Given the description of an element on the screen output the (x, y) to click on. 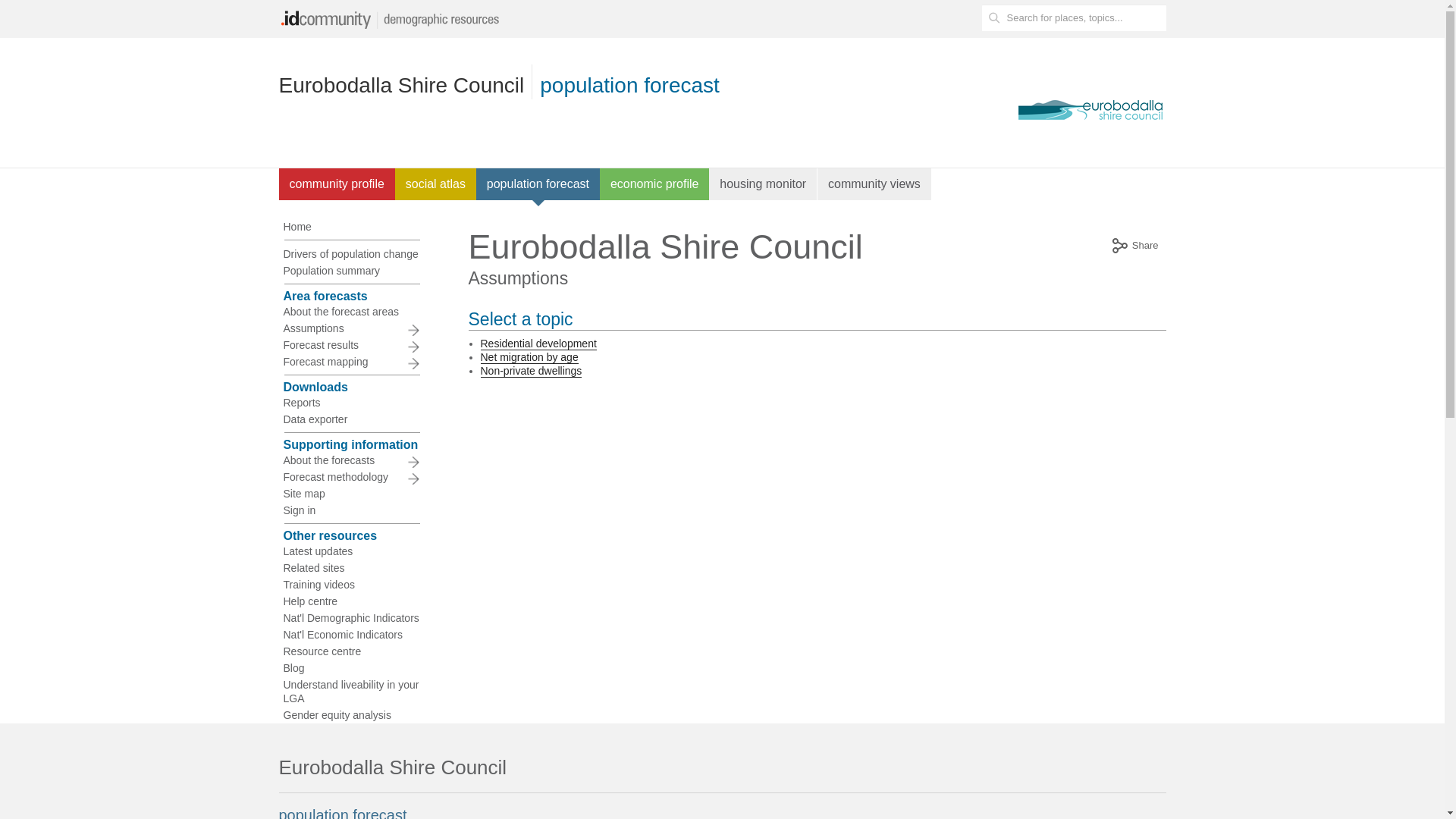
housing monitor Element type: text (763, 184)
Help centre Element type: text (351, 601)
Non-private dwellings Element type: text (531, 370)
Forecast methodology
  Element type: text (351, 476)
Home Element type: text (351, 226)
About the forecast areas Element type: text (351, 311)
Population summary Element type: text (351, 270)
Share Element type: text (1134, 247)
idc-logo Element type: text (392, 18)
Blog Element type: text (351, 667)
Eurobodalla Shire Council website Element type: hover (1090, 109)
Resource centre Element type: text (351, 651)
community profile Element type: text (337, 184)
population forecast Element type: text (537, 184)
Assumptions
  Element type: text (351, 328)
Understand liveability in your LGA Element type: text (351, 691)
Site map Element type: text (351, 493)
community views Element type: text (874, 184)
social atlas Element type: text (435, 184)
Data exporter Element type: text (351, 419)
Forecast mapping
  Element type: text (351, 361)
Training videos Element type: text (351, 584)
Forecast results
  Element type: text (351, 344)
Net migration by age Element type: text (529, 357)
Nat'l Demographic Indicators Element type: text (351, 617)
Gender equity analysis Element type: text (351, 714)
Sign in Element type: text (351, 510)
economic profile Element type: text (654, 184)
Reports Element type: text (351, 402)
Related sites Element type: text (351, 567)
Nat'l Economic Indicators Element type: text (351, 634)
Drivers of population change Element type: text (351, 253)
About the forecasts
  Element type: text (351, 459)
Residential development Element type: text (538, 343)
Latest updates Element type: text (351, 550)
